Given the description of an element on the screen output the (x, y) to click on. 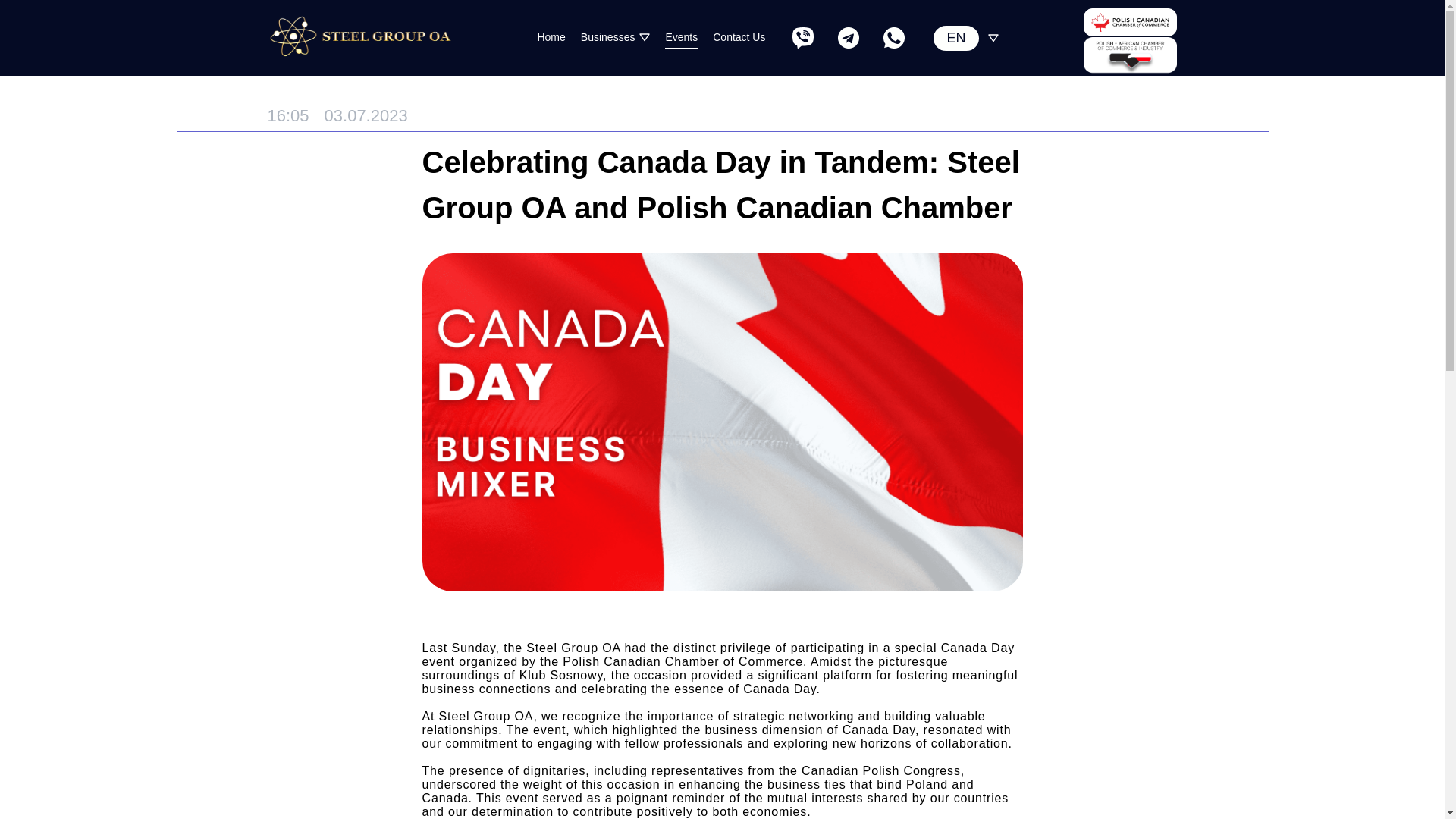
Events (681, 37)
Businesses (607, 36)
EN (955, 38)
Home (550, 37)
Contact Us (739, 37)
